Given the description of an element on the screen output the (x, y) to click on. 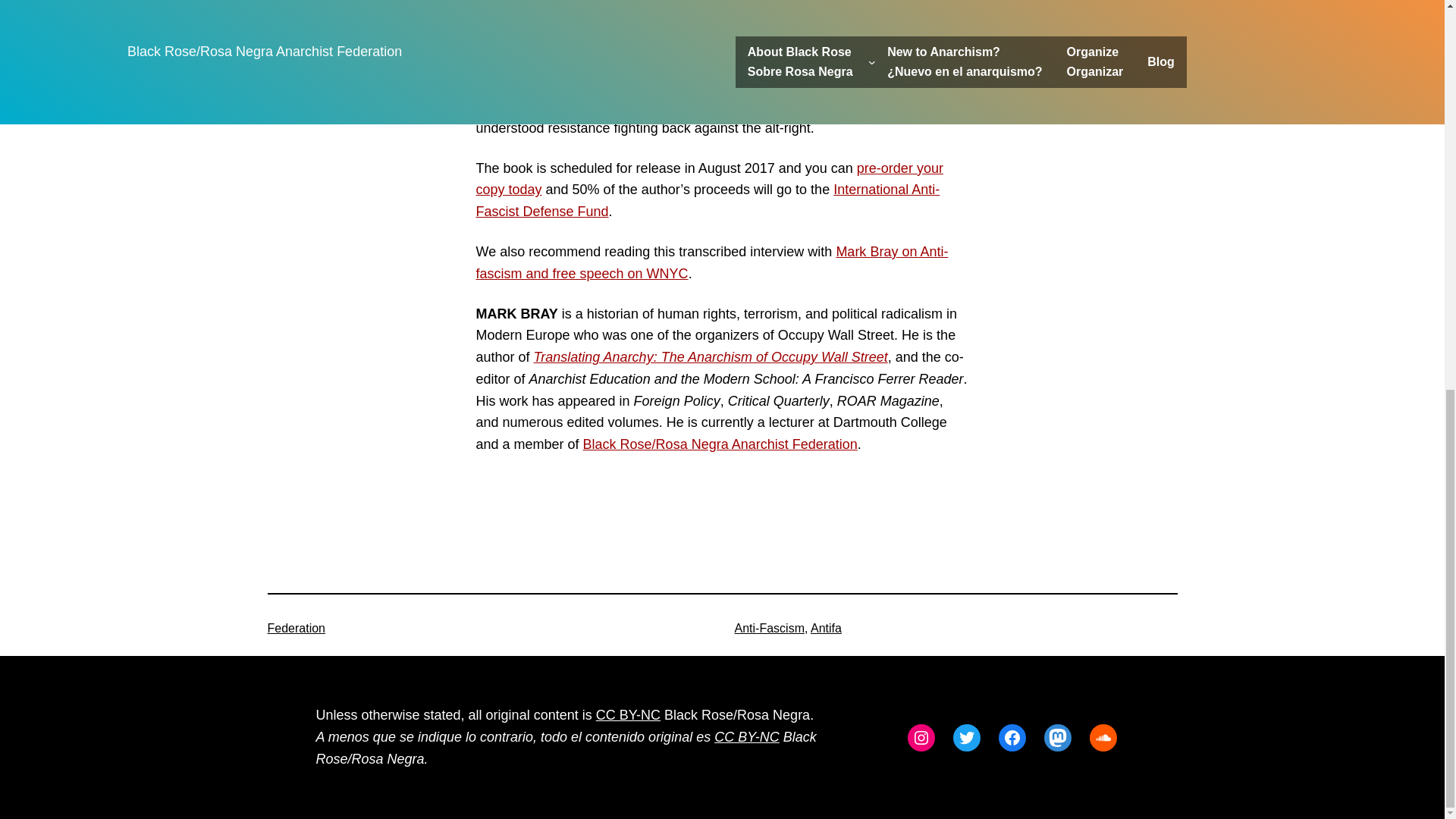
Mark Bray on Anti-fascism and free speech on WNYC (712, 262)
International Anti-Fascist Defense Fund (708, 200)
Anti-Fascism (768, 627)
Antifa (825, 627)
CC BY-NC (746, 736)
pre-order your copy today (709, 179)
Translating Anarchy: The Anarchism of Occupy Wall Street (711, 356)
CC BY-NC (628, 714)
Federation (295, 627)
